Given the description of an element on the screen output the (x, y) to click on. 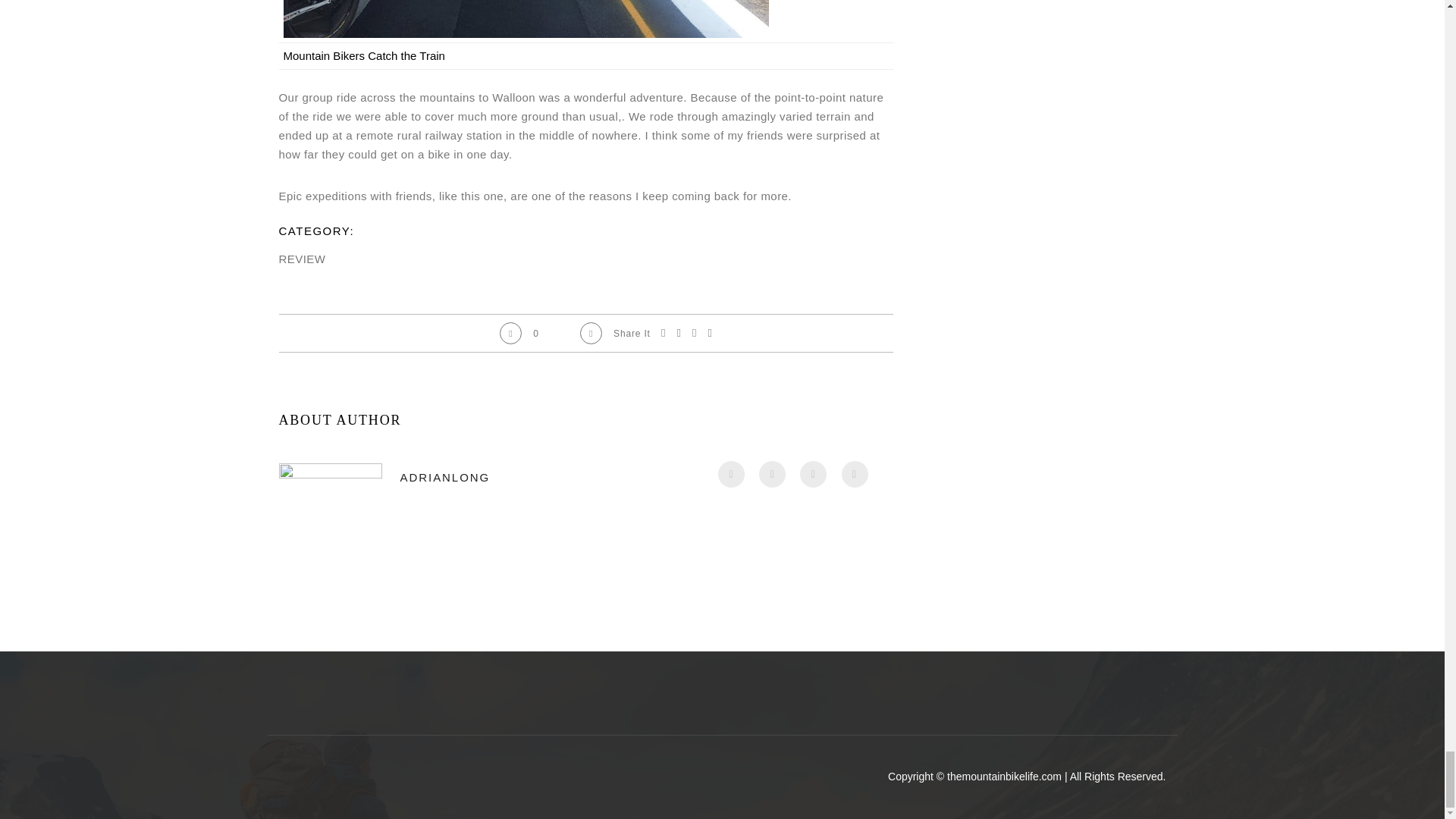
0 (518, 332)
REVIEW (302, 258)
